Given the description of an element on the screen output the (x, y) to click on. 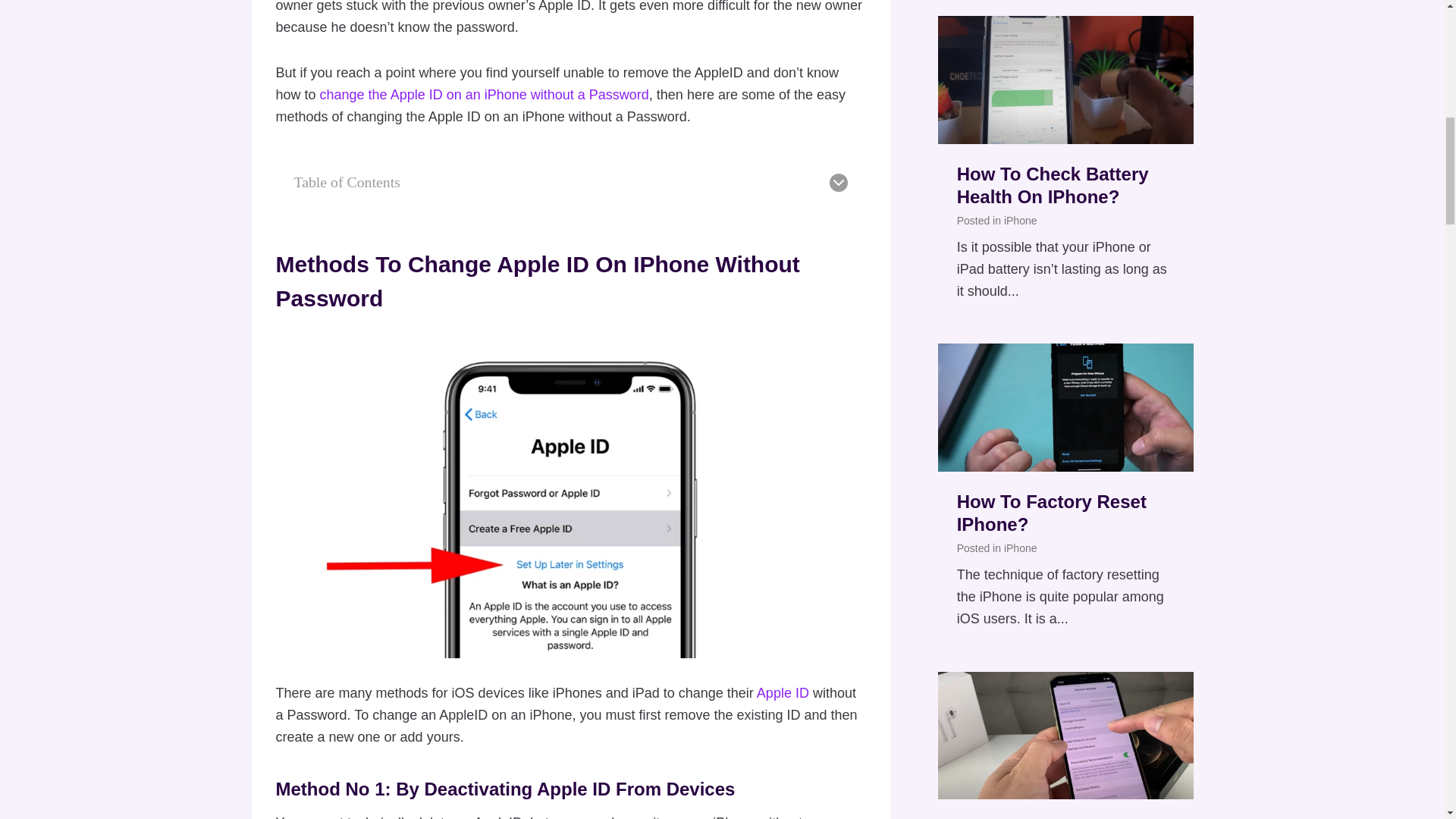
Table of Contents (570, 182)
change the Apple ID on an iPhone without a Password (484, 94)
How To Factory Reset iPhone? 11 (1065, 406)
How to Change the Country On iPhone? 12 (1065, 735)
Apple ID (783, 693)
How to Check Battery Health On iPhone? 10 (1065, 79)
